Given the description of an element on the screen output the (x, y) to click on. 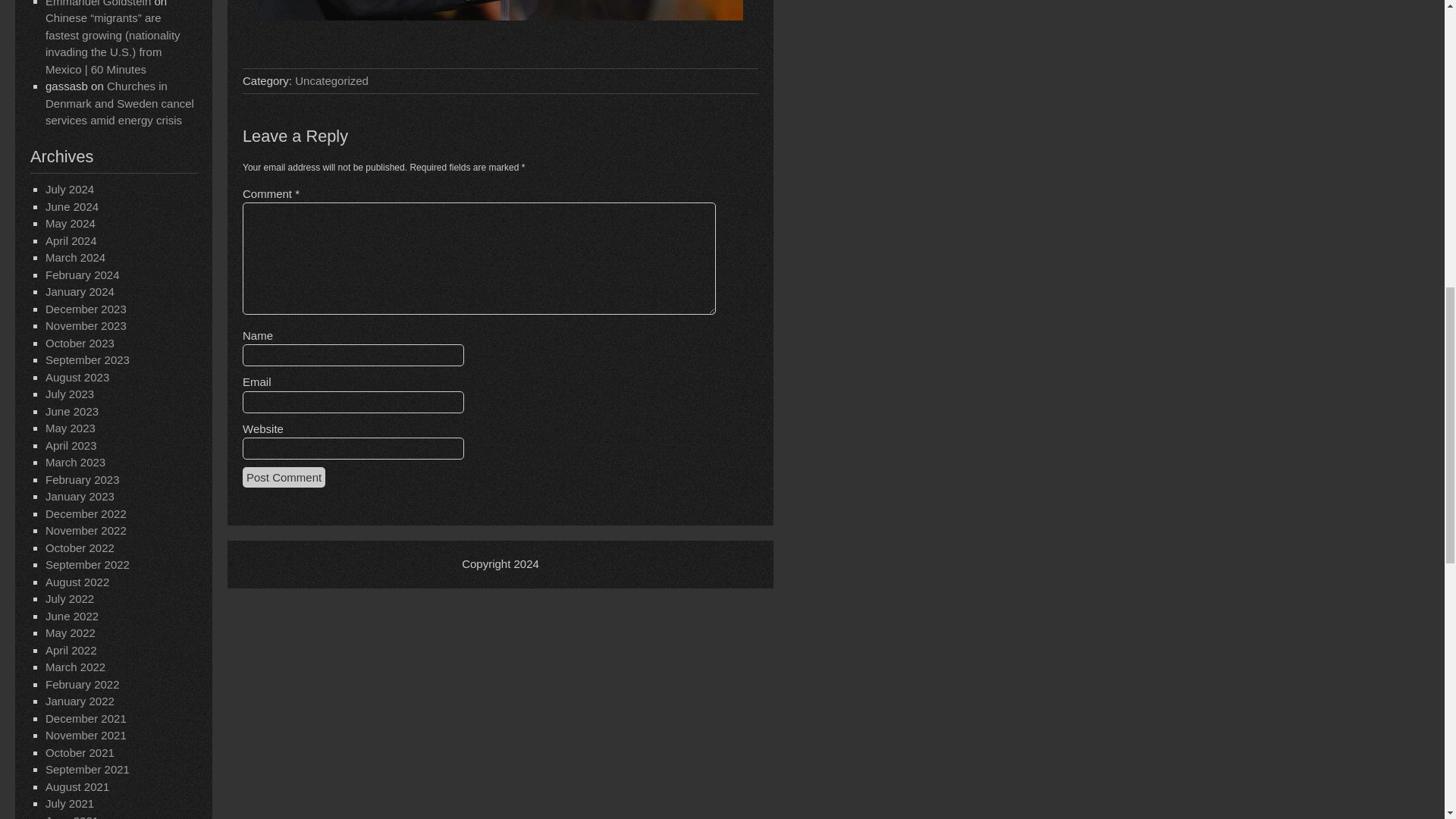
Post Comment (283, 476)
May 2023 (70, 427)
August 2023 (77, 377)
April 2024 (71, 240)
Emmanuel Goldstein (98, 3)
December 2022 (85, 513)
March 2024 (74, 256)
September 2022 (87, 563)
February 2023 (82, 479)
May 2024 (70, 223)
February 2024 (82, 274)
October 2023 (80, 342)
March 2023 (74, 461)
June 2024 (72, 205)
